Given the description of an element on the screen output the (x, y) to click on. 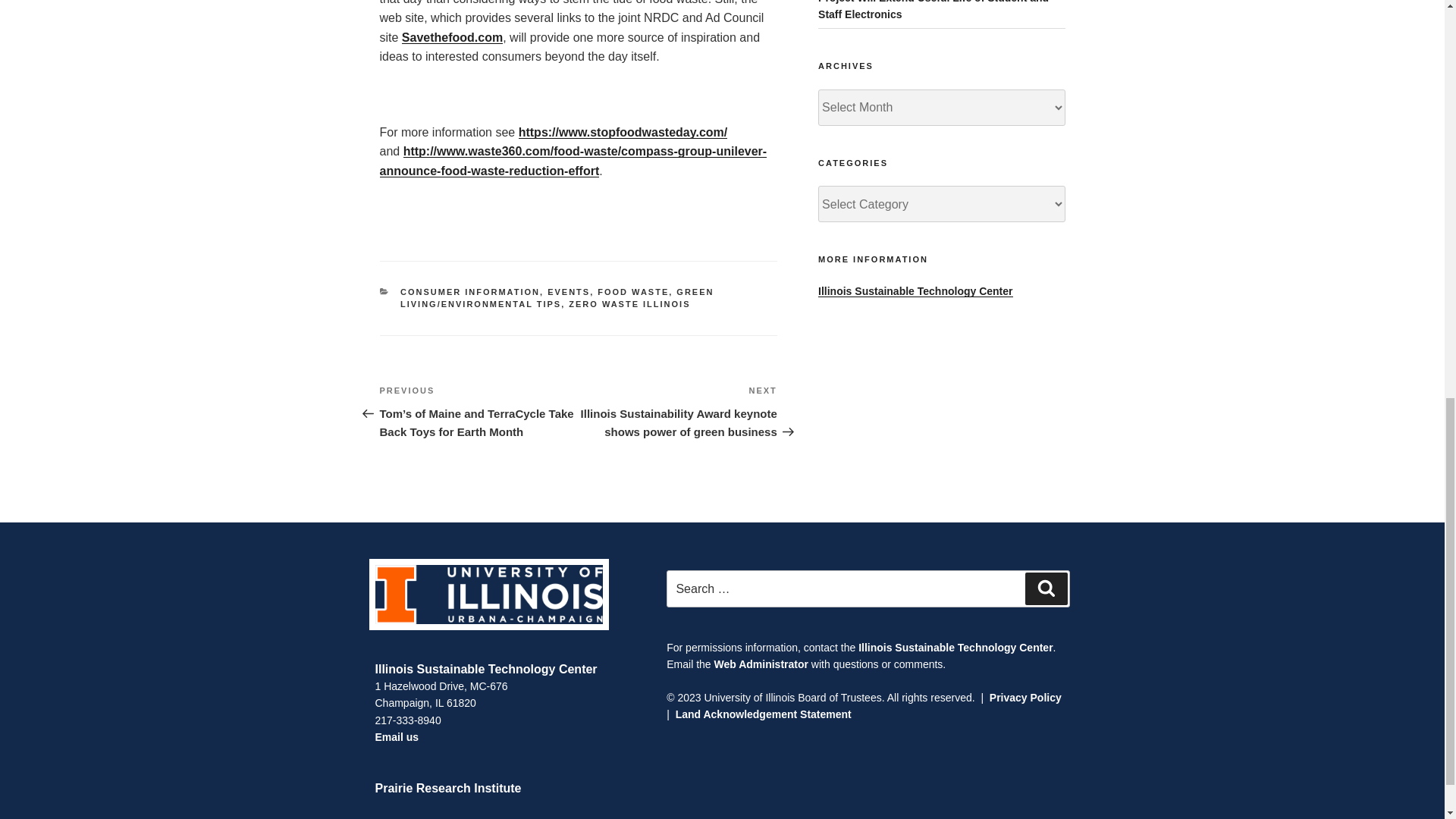
FOOD WASTE (632, 291)
Savethefood.com (451, 37)
Search (1046, 588)
EVENTS (568, 291)
Illinois Sustainable Technology Center (485, 668)
Prairie Research Institute (447, 788)
Illinois Sustainable Technology Center (914, 291)
CONSUMER INFORMATION (470, 291)
